Given the description of an element on the screen output the (x, y) to click on. 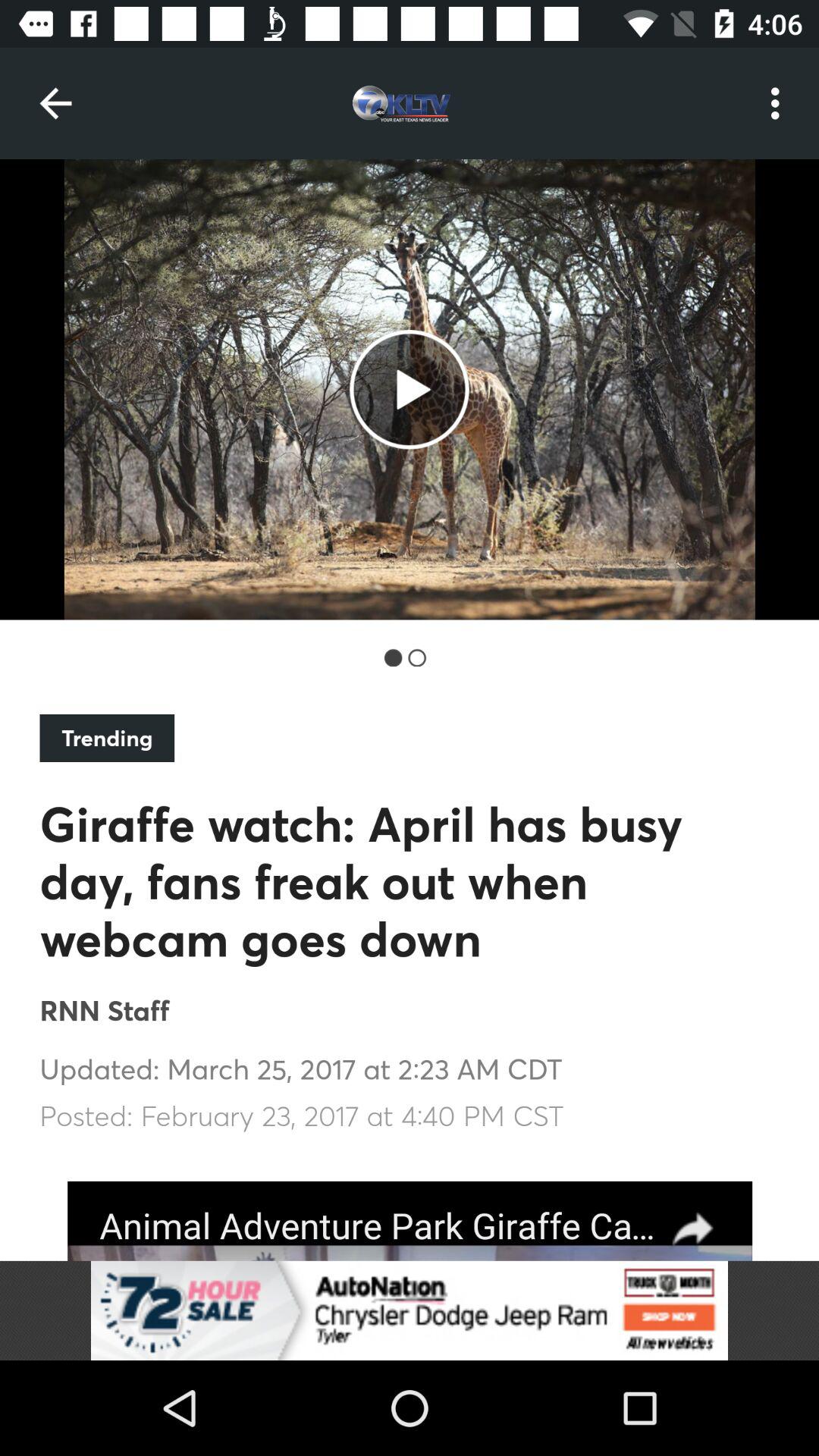
advertisement link to different site (409, 1220)
